Given the description of an element on the screen output the (x, y) to click on. 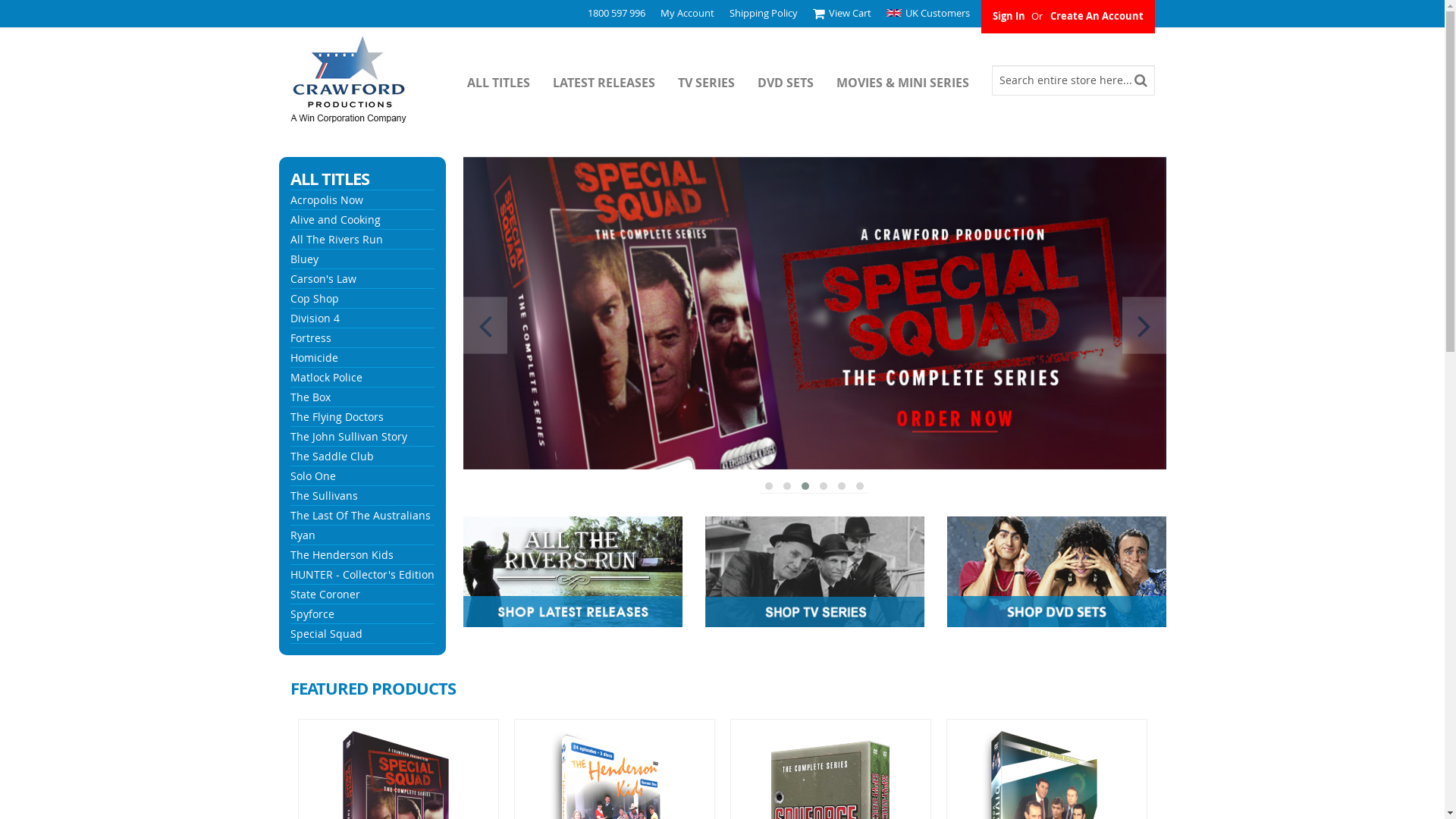
Matlock Police Element type: text (325, 377)
Special Squad Element type: text (325, 633)
Cop Shop Element type: text (313, 298)
Homicide Element type: text (313, 357)
My Account Element type: text (686, 12)
Carson's Law Element type: text (322, 278)
Acropolis Now Element type: text (325, 199)
Fortress Element type: text (309, 337)
Spyforce Element type: text (311, 613)
State Coroner Element type: text (324, 593)
ALL TITLES Element type: text (509, 80)
DVD SETS Element type: text (795, 80)
Bluey Element type: text (303, 258)
The Saddle Club Element type: text (331, 455)
The Last Of The Australians Element type: text (359, 515)
MOVIES & MINI SERIES Element type: text (913, 80)
Division 4 Element type: text (313, 317)
The Henderson Kids Element type: text (340, 554)
TV SERIES Element type: text (717, 80)
1800 597 996 Element type: text (615, 12)
Create An Account Element type: text (1095, 15)
UK Customers Element type: text (927, 12)
The Box Element type: text (309, 396)
View Cart Element type: text (841, 13)
Search Element type: text (1140, 80)
The Sullivans Element type: text (323, 495)
Shipping Policy Element type: text (763, 12)
Sign In Element type: text (1007, 15)
The John Sullivan Story Element type: text (347, 436)
All The Rivers Run Element type: text (335, 239)
Solo One Element type: text (312, 475)
LATEST RELEASES Element type: text (614, 80)
Alive and Cooking Element type: text (334, 219)
Ryan Element type: text (301, 534)
The Flying Doctors Element type: text (335, 416)
HUNTER - Collector's Edition Element type: text (361, 574)
